Given the description of an element on the screen output the (x, y) to click on. 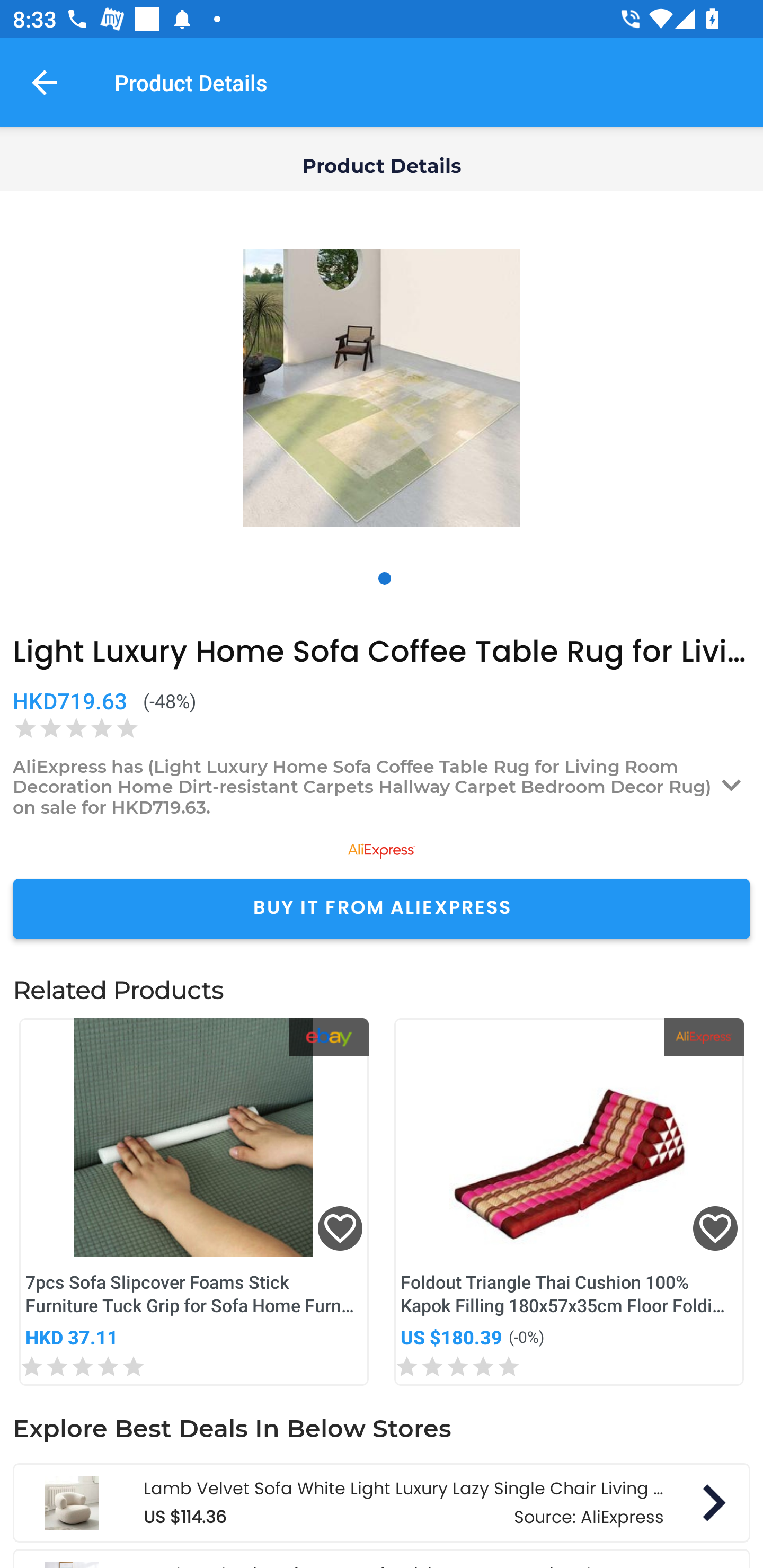
Navigate up (44, 82)
BUY IT FROM ALIEXPRESS (381, 908)
